Given the description of an element on the screen output the (x, y) to click on. 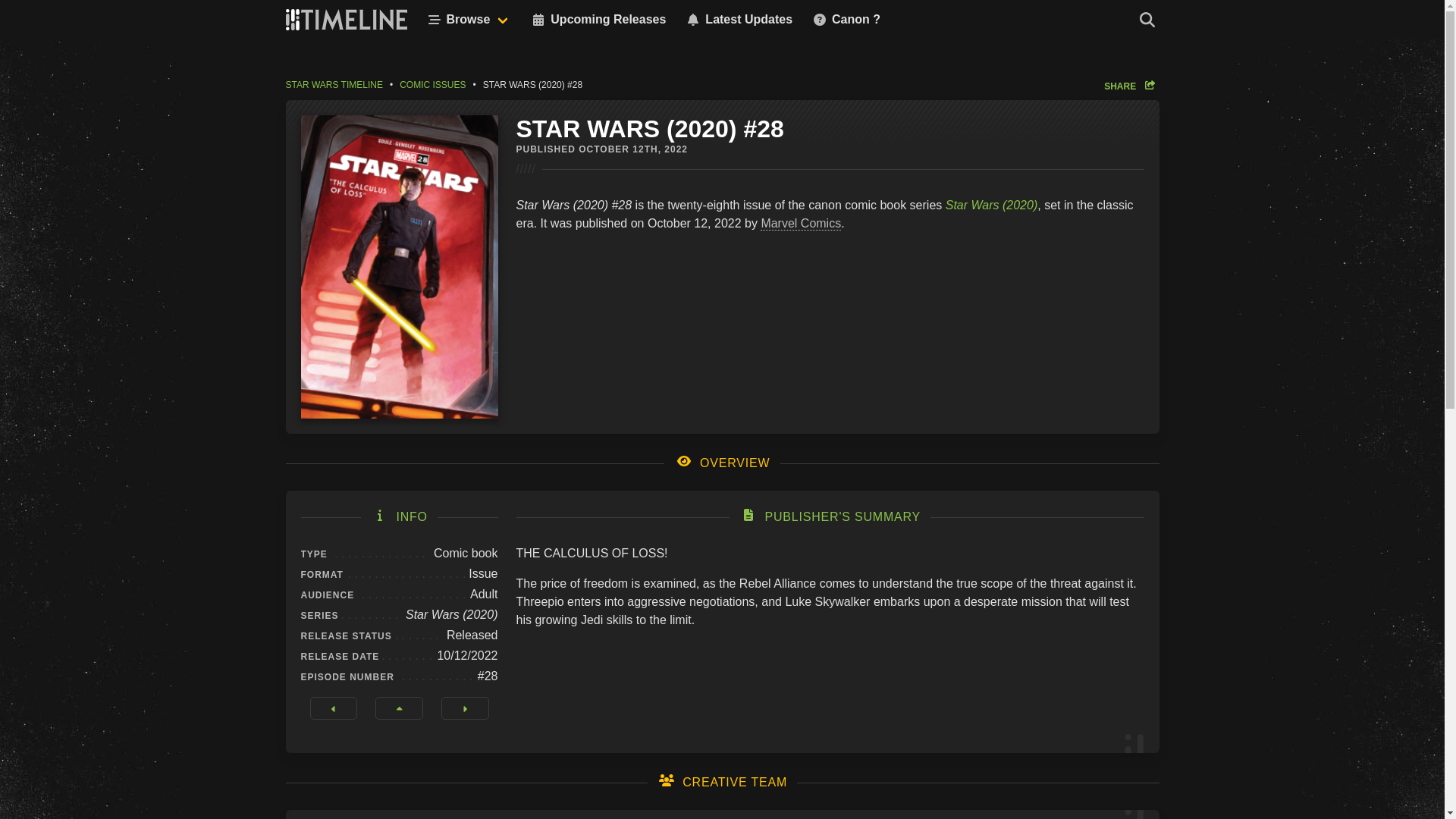
Upcoming Releases (597, 19)
COMIC ISSUES (432, 84)
Next work in the serie (465, 707)
STAR WARS TIMELINE (336, 84)
Latest Updates (738, 19)
Canon ? (845, 19)
SHARE (1130, 85)
View Series (399, 707)
Previous work in the serie (332, 707)
Browse (466, 19)
